Given the description of an element on the screen output the (x, y) to click on. 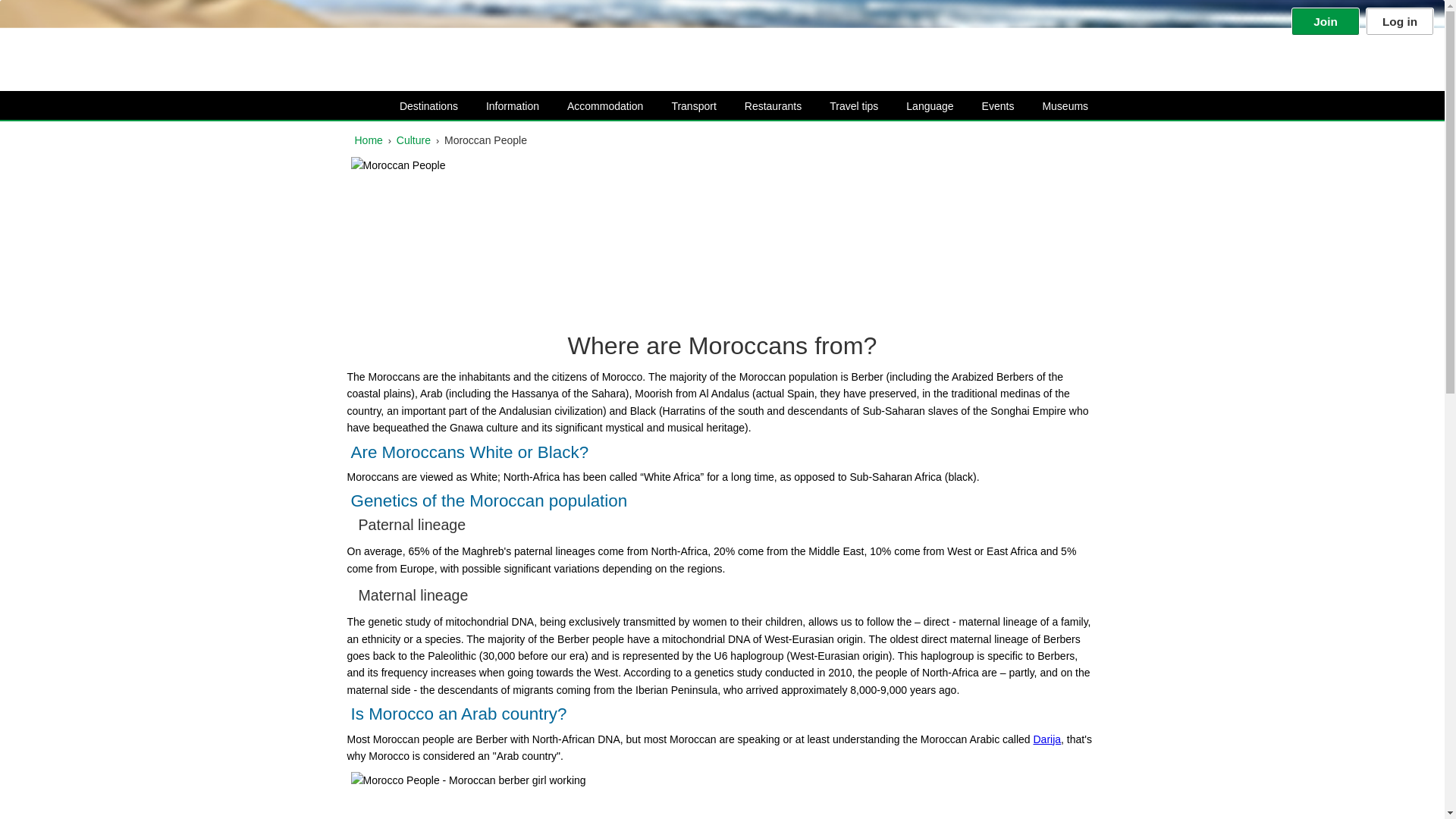
Join (1325, 21)
Morocco Guide (87, 42)
Information (501, 106)
Log in (1399, 21)
Morocco Destinations (417, 106)
Sign up (1325, 21)
Destinations (417, 106)
Log in (1399, 21)
